Given the description of an element on the screen output the (x, y) to click on. 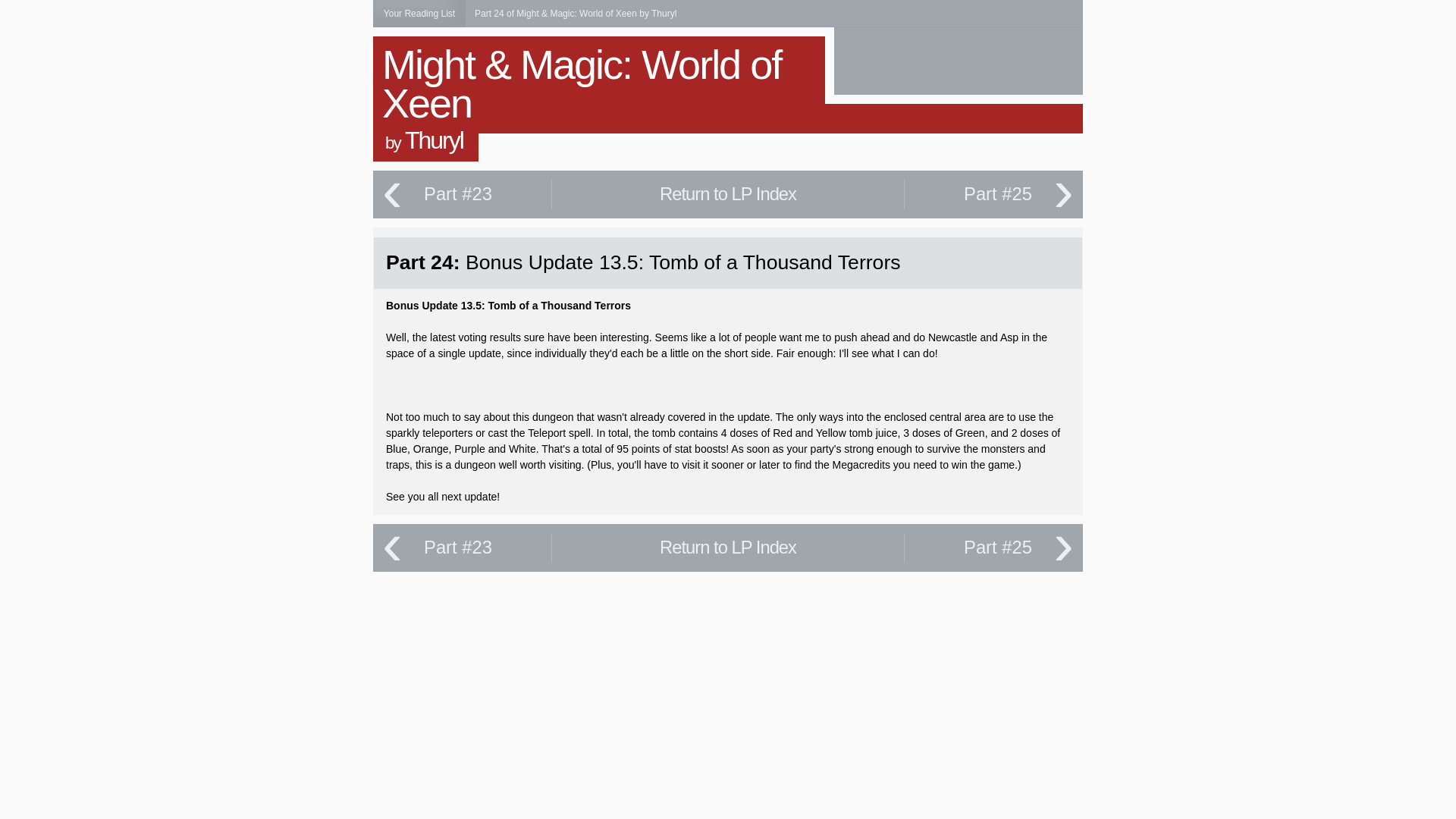
Click to expand and view your full reading list (418, 13)
Thuryl (433, 139)
